Given the description of an element on the screen output the (x, y) to click on. 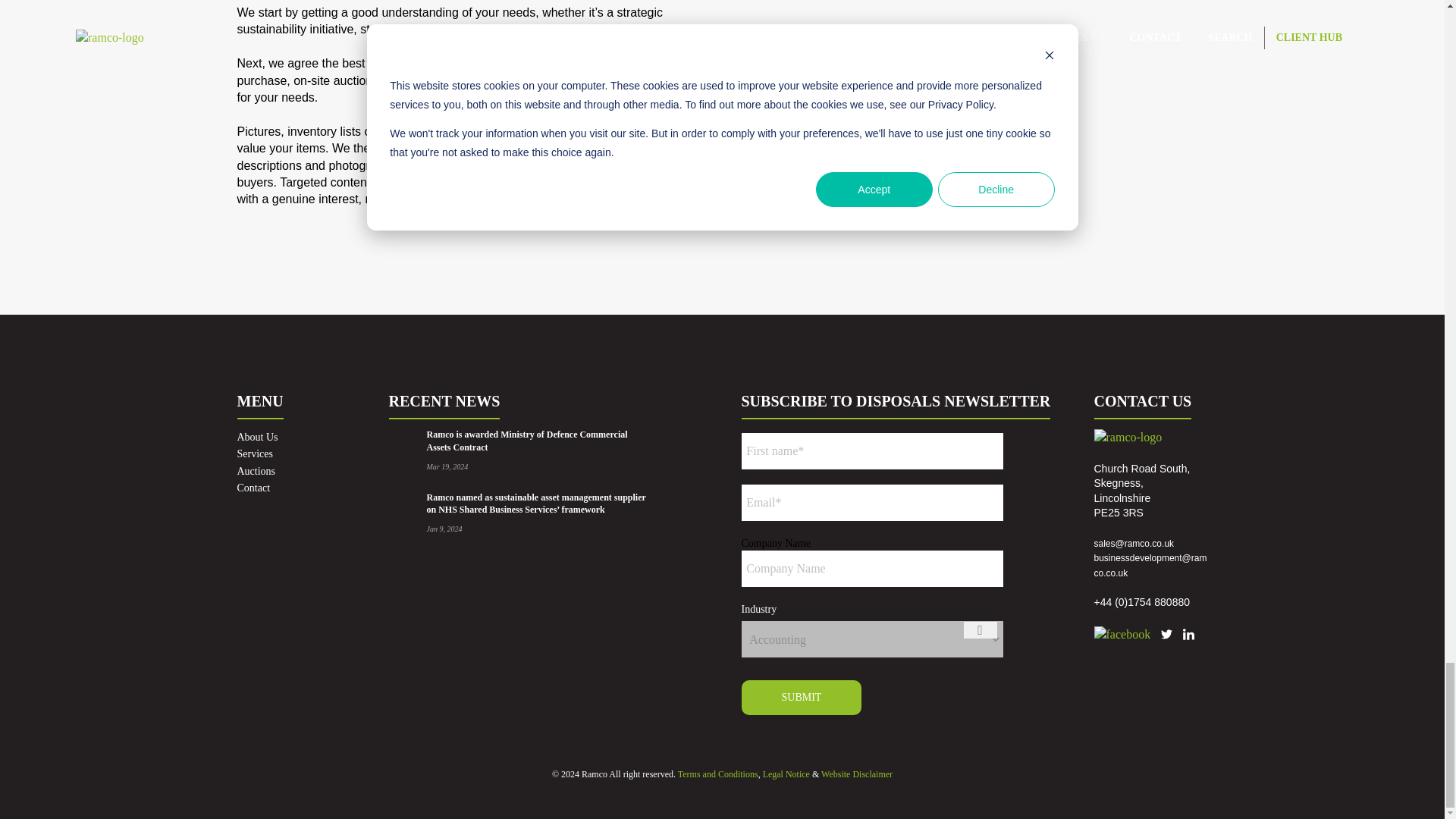
Services (253, 453)
About Us (256, 437)
ramco-logo (1127, 437)
Submit (801, 697)
Auctions (255, 471)
Submit (801, 697)
Contact (252, 487)
